Given the description of an element on the screen output the (x, y) to click on. 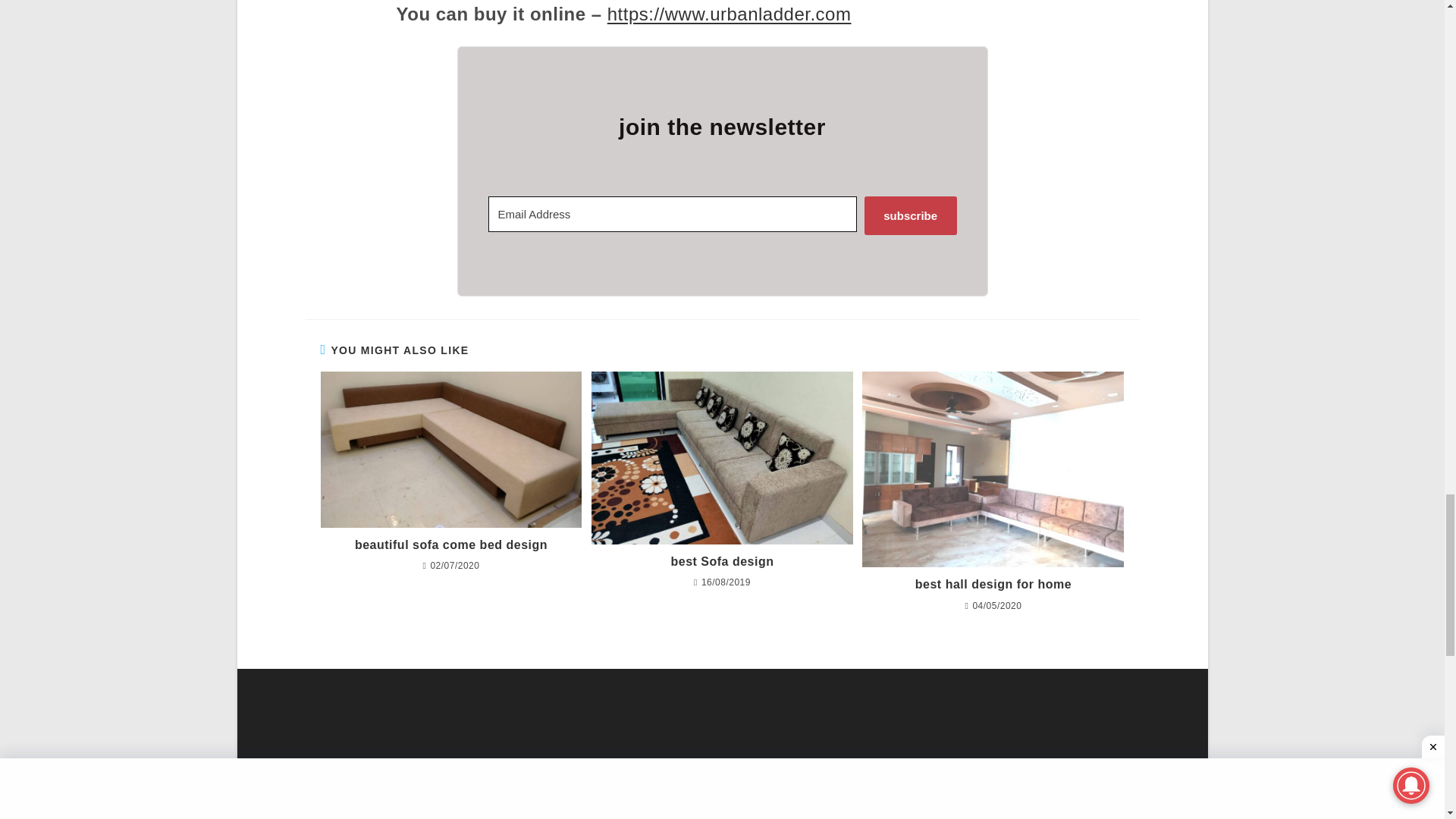
beautiful sofa come bed design (450, 545)
best Sofa design (721, 561)
best hall design for home (992, 469)
best Sofa design (722, 457)
beautiful sofa come bed design (450, 449)
best hall design for home (992, 584)
Bed (705, 798)
subscribe (910, 215)
